Given the description of an element on the screen output the (x, y) to click on. 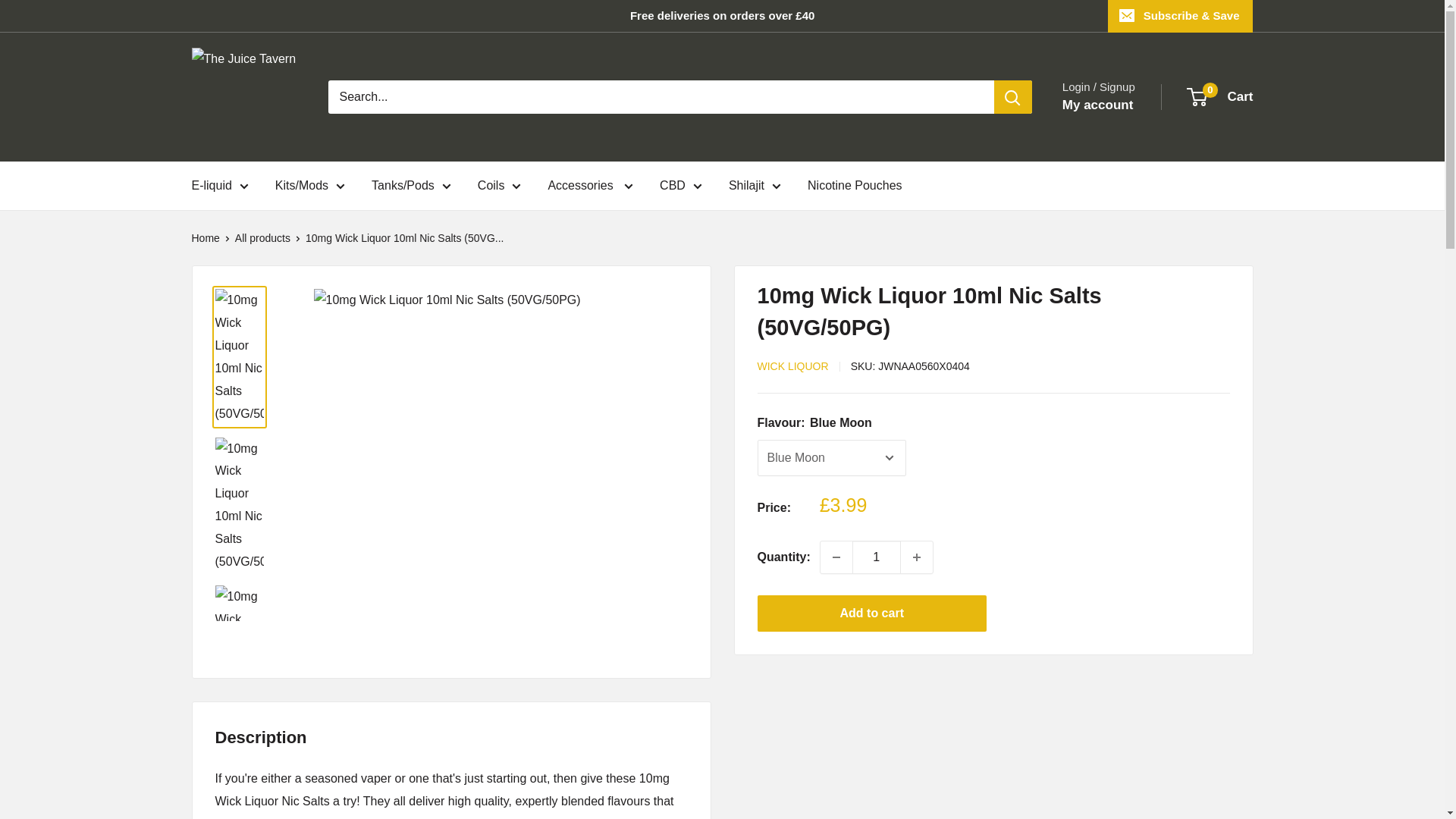
Decrease quantity by 1 (836, 557)
Increase quantity by 1 (917, 557)
1 (876, 557)
